Given the description of an element on the screen output the (x, y) to click on. 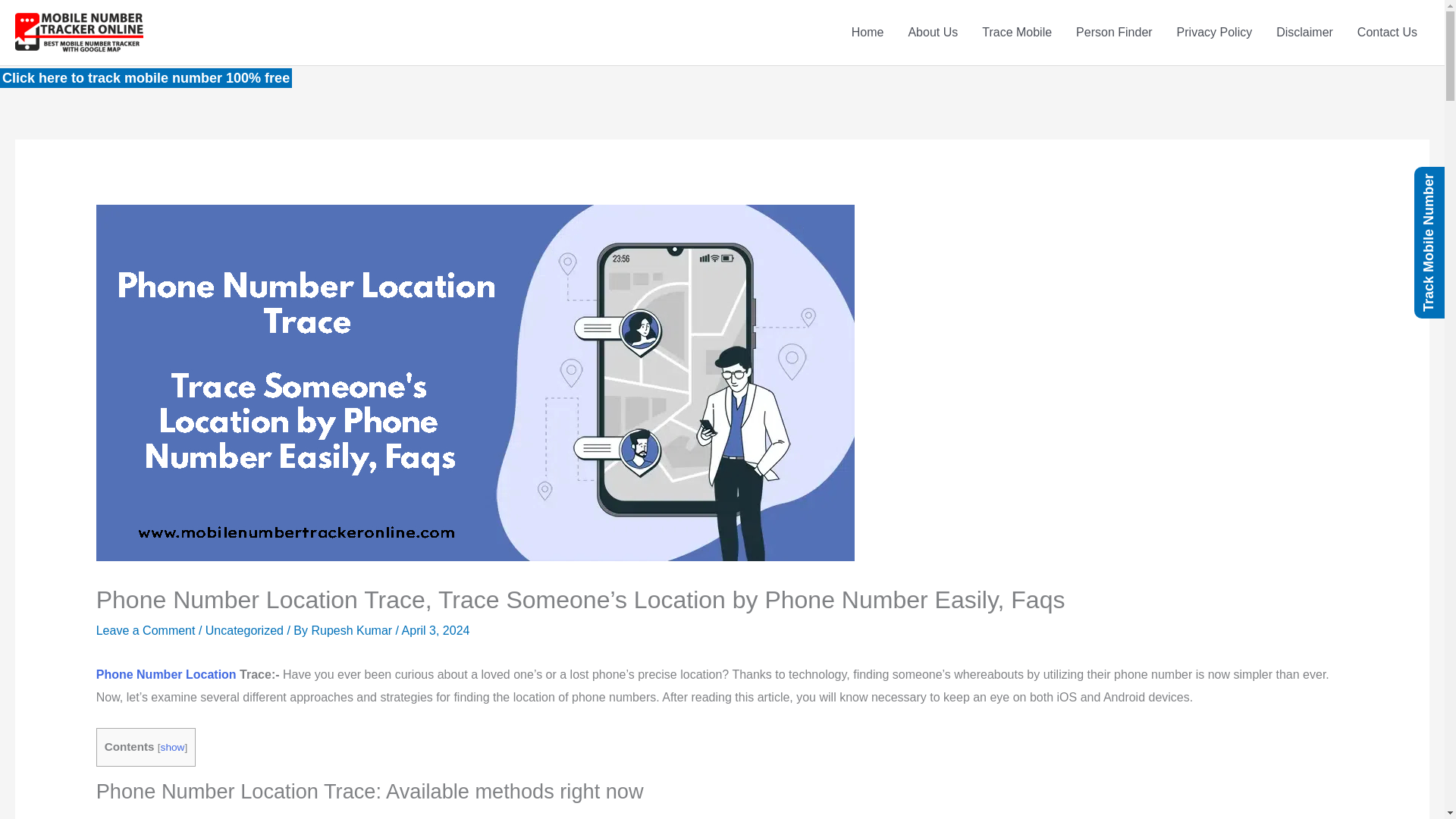
Disclaimer (1304, 32)
Phone Number Location (165, 674)
Click the link to check more about Track Mobile Phone (165, 674)
Trace Mobile (1016, 32)
Contact Us (1387, 32)
Person Finder (1114, 32)
Leave a Comment (145, 630)
Privacy Policy (1214, 32)
Rupesh Kumar (352, 630)
View all posts by Rupesh Kumar (352, 630)
show (172, 747)
About Us (932, 32)
Uncategorized (244, 630)
